Given the description of an element on the screen output the (x, y) to click on. 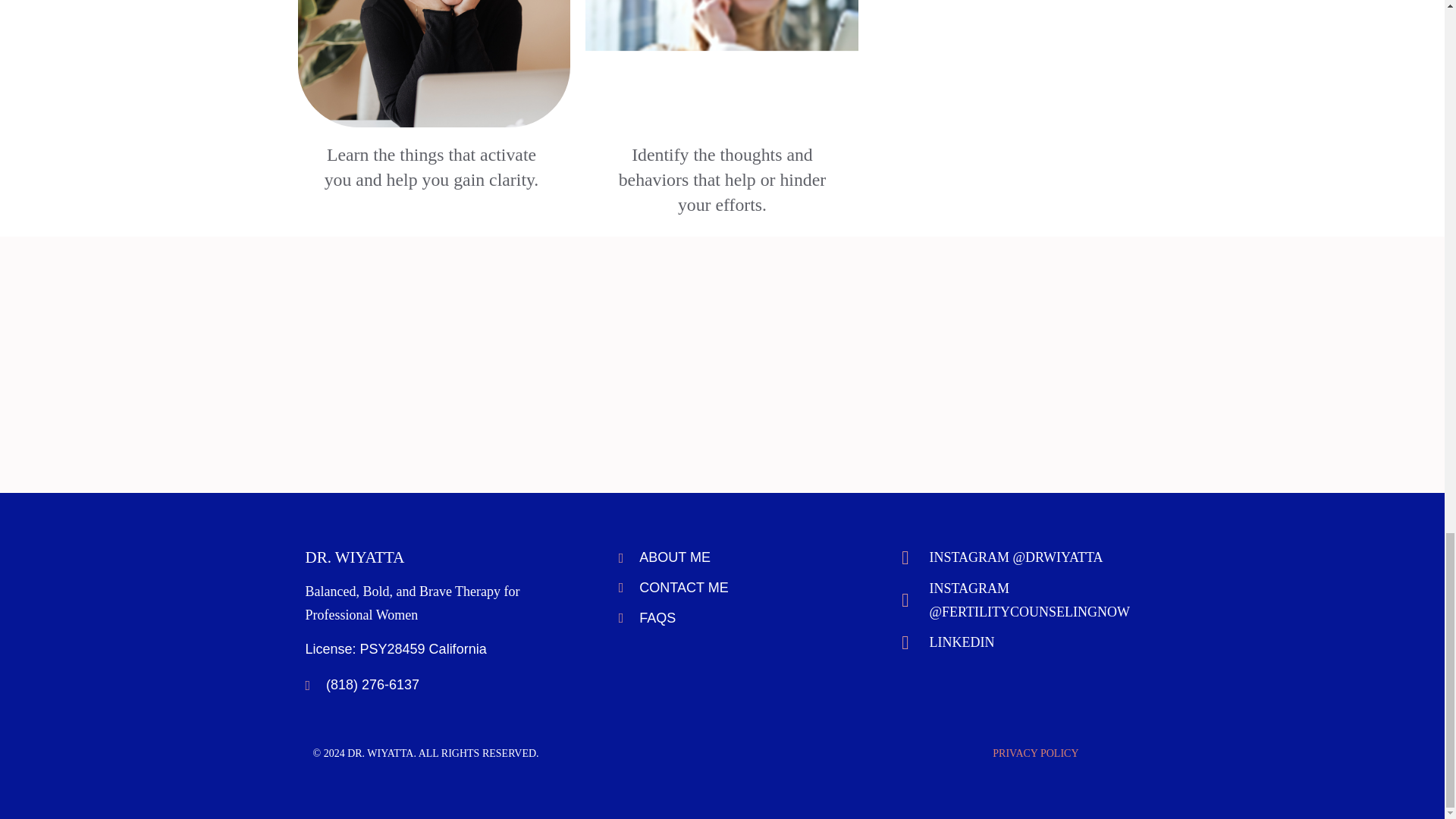
PRIVACY POLICY (1035, 753)
LINKEDIN (1019, 642)
CONTACT ME (737, 587)
ABOUT ME (737, 557)
FAQS (737, 617)
